Given the description of an element on the screen output the (x, y) to click on. 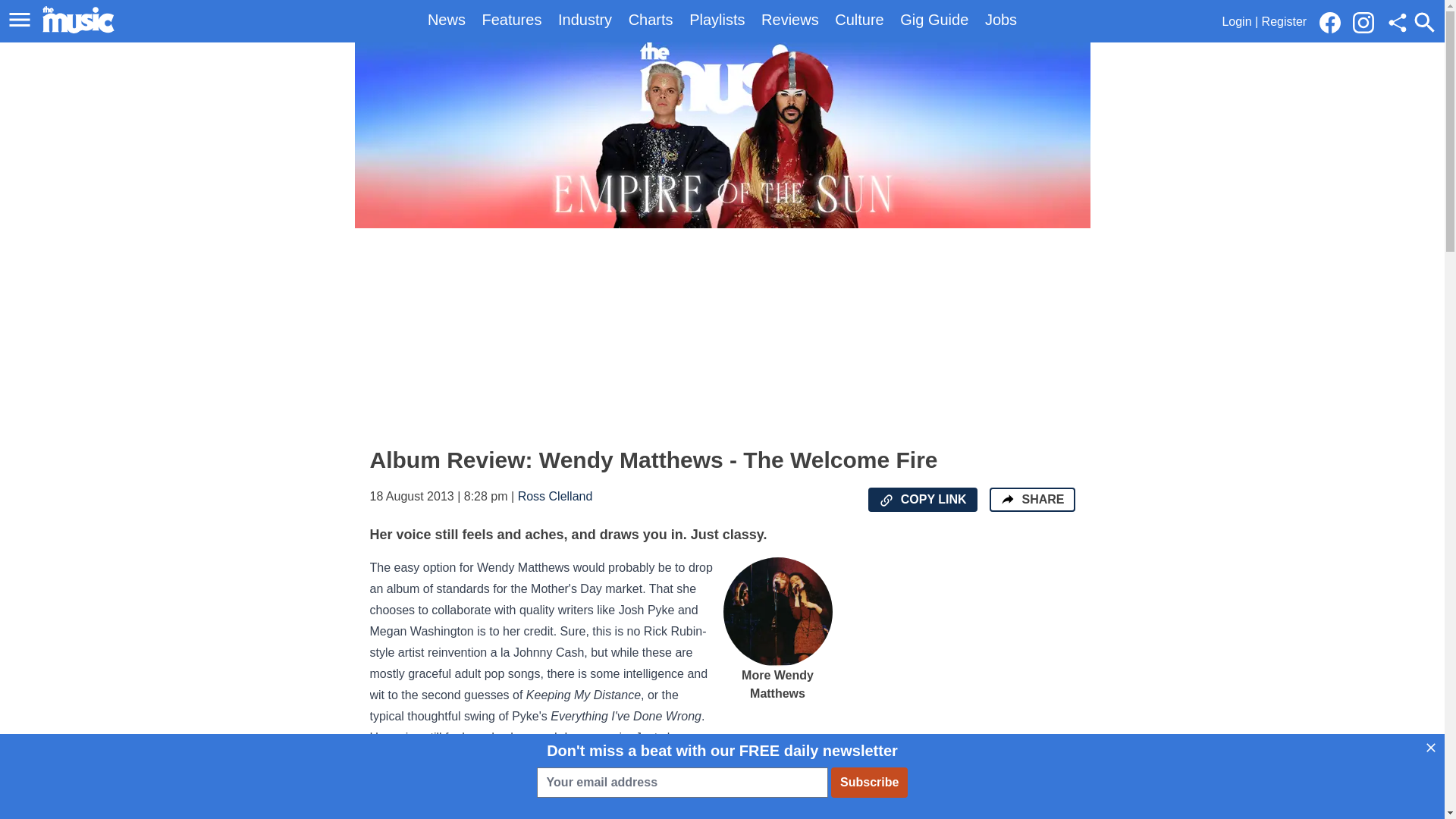
Open the site search menu (1424, 22)
Share this page (1397, 22)
Share the page SHARE (1032, 499)
Charts (650, 19)
Features (511, 19)
Open the main menu (19, 19)
Industry (584, 19)
Jobs (1000, 19)
Register (1284, 21)
Login (1235, 21)
Playlists (716, 19)
Reviews (789, 19)
News (446, 19)
Share this page (1397, 22)
